Given the description of an element on the screen output the (x, y) to click on. 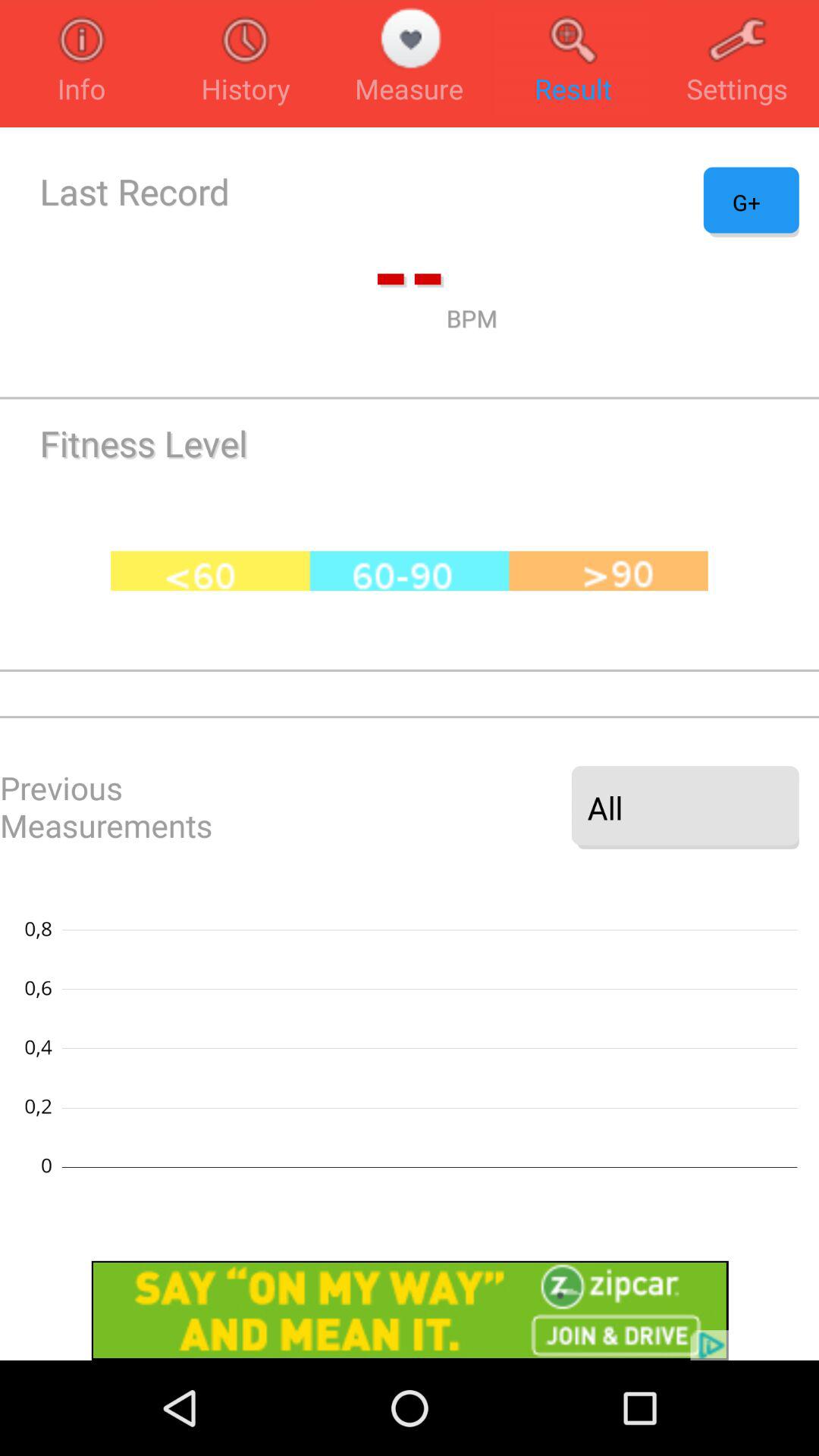
advertisement for zipcar (409, 1310)
